Given the description of an element on the screen output the (x, y) to click on. 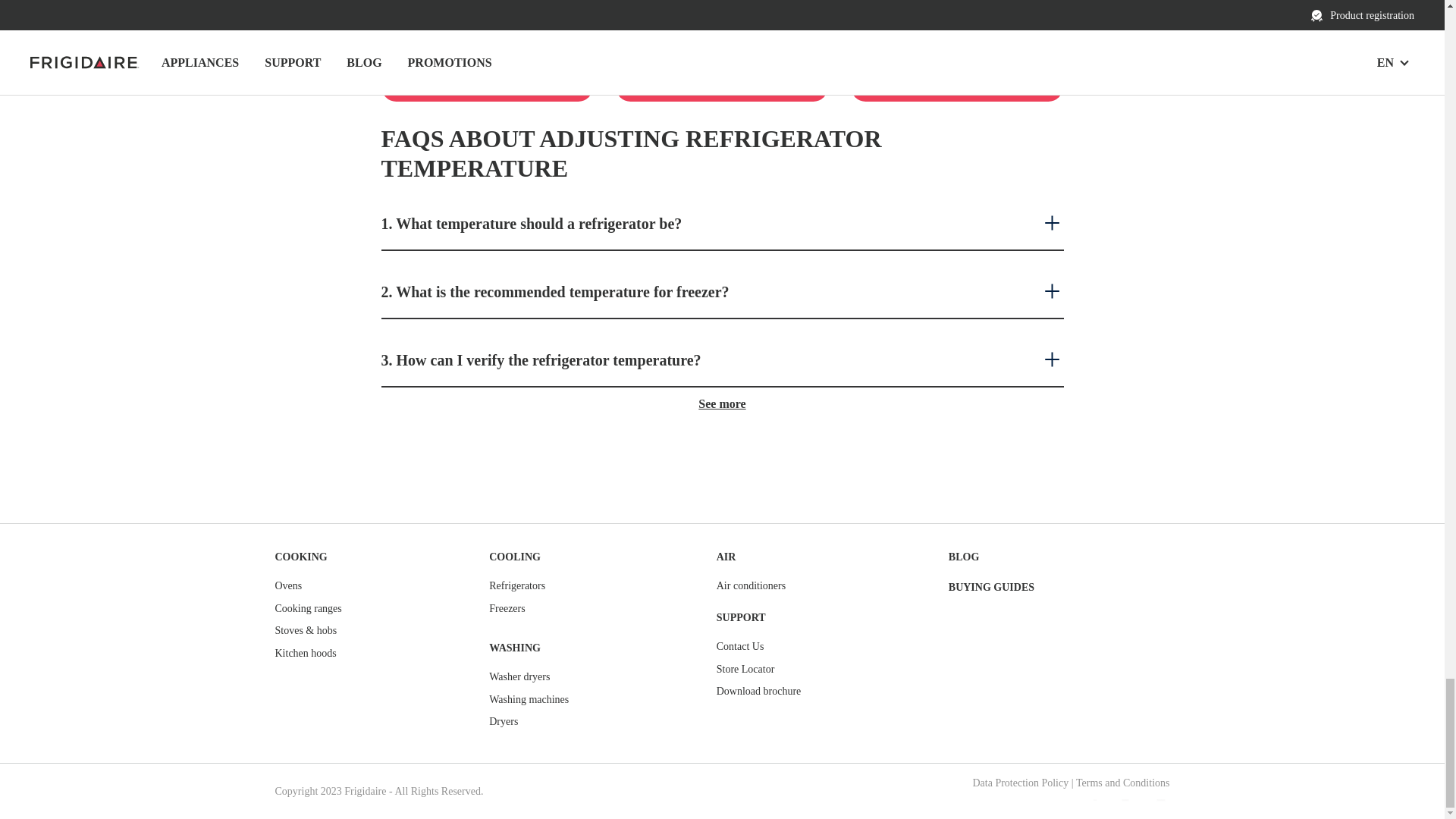
Data Protection Policy (1020, 782)
Terms and Conditions (1122, 782)
WHERE TO BUY (486, 86)
